Given the description of an element on the screen output the (x, y) to click on. 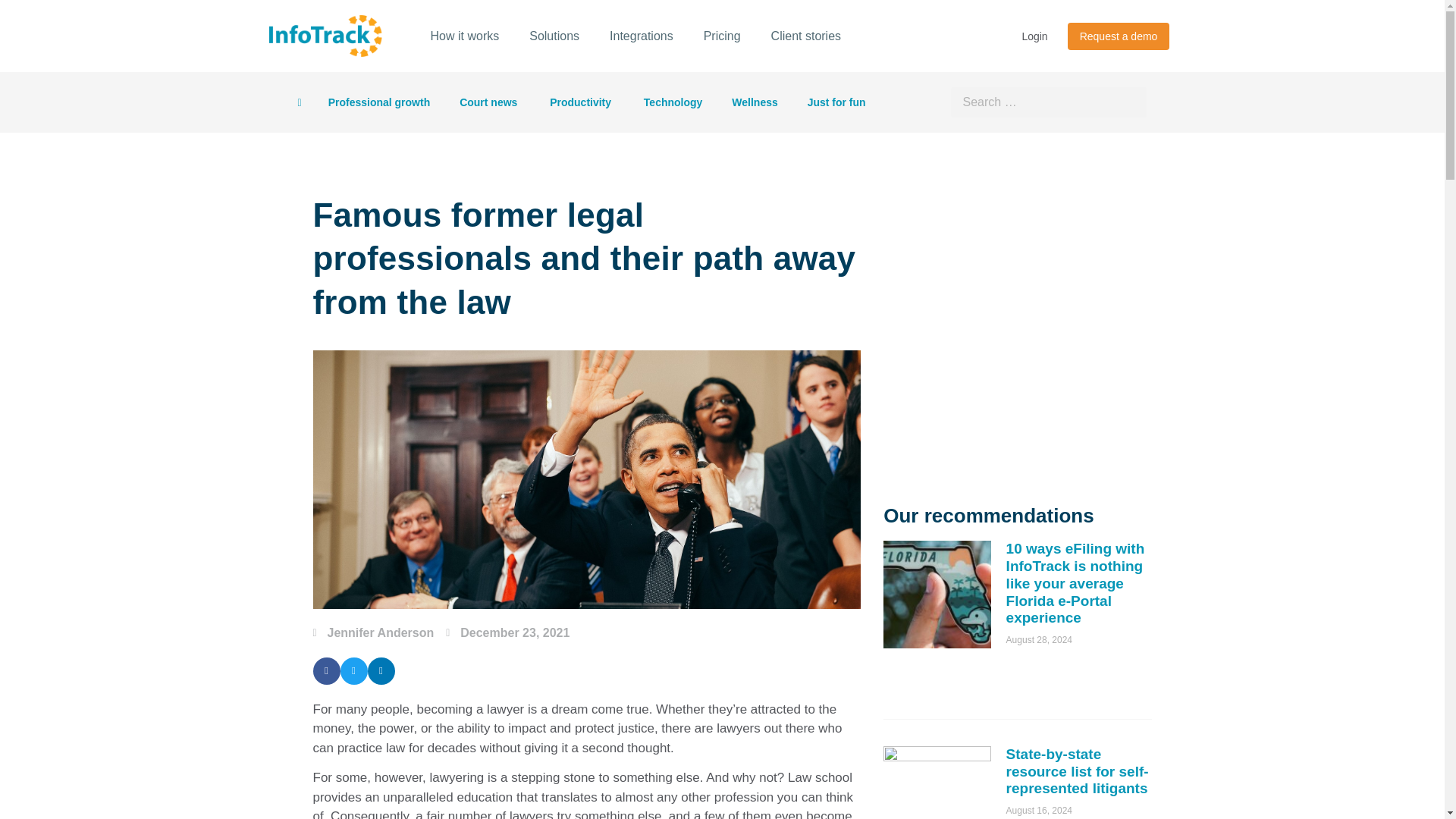
How it works (464, 36)
Just for fun (837, 102)
Jennifer Anderson (373, 633)
December 23, 2021 (507, 633)
Solutions (553, 36)
Integrations (641, 36)
Login (1034, 35)
Court news  (489, 102)
 Productivity  (580, 102)
Professional growth (379, 102)
